Given the description of an element on the screen output the (x, y) to click on. 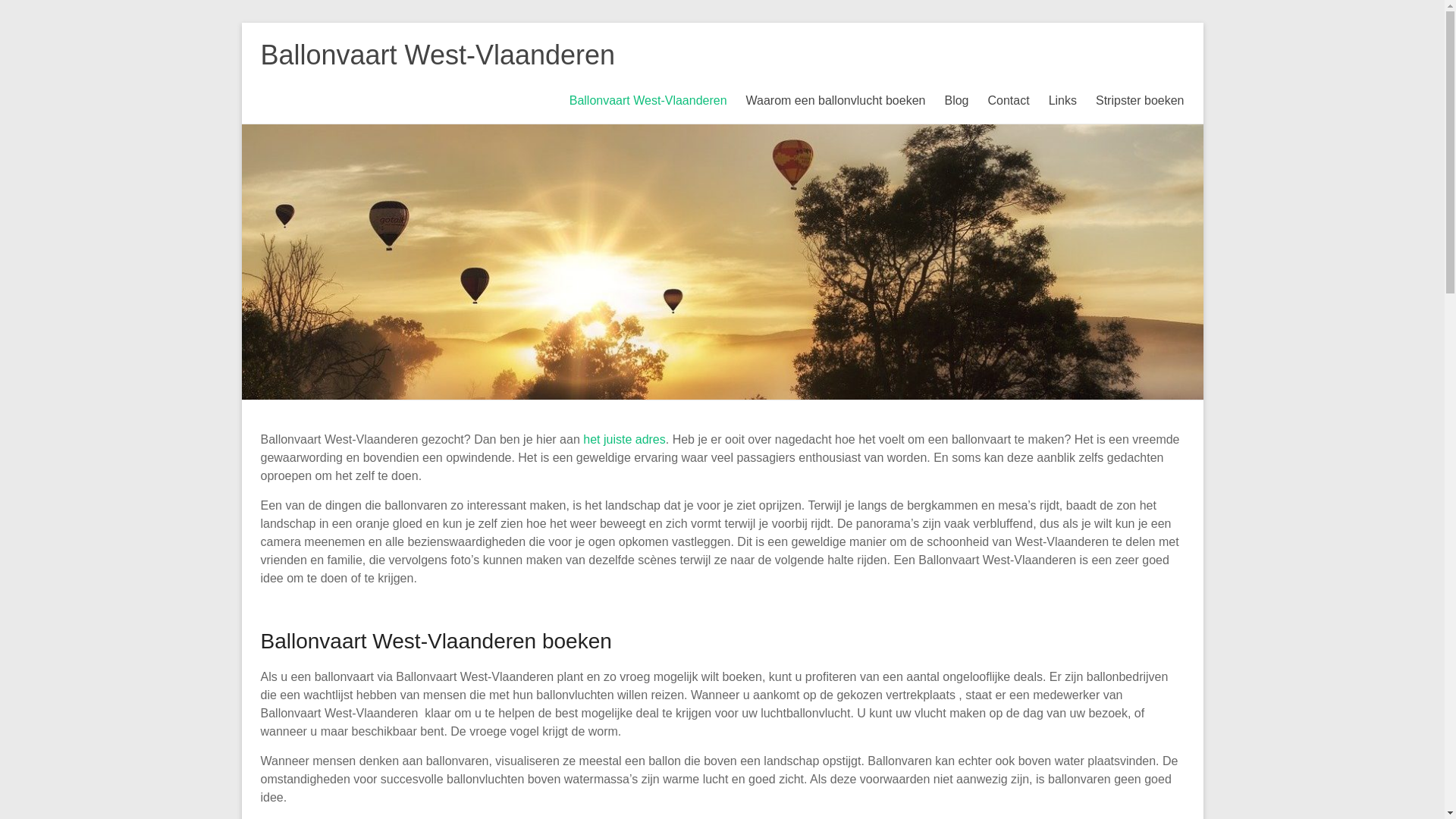
Skip to content Element type: text (241, 21)
Ballonvaart West-Vlaanderen Element type: text (437, 54)
Waarom een ballonvlucht boeken Element type: text (835, 100)
het juiste adres Element type: text (624, 439)
Contact Element type: text (1008, 100)
Links Element type: text (1062, 100)
Stripster boeken Element type: text (1139, 100)
Blog Element type: text (956, 100)
Ballonvaart West-Vlaanderen Element type: text (648, 100)
